Given the description of an element on the screen output the (x, y) to click on. 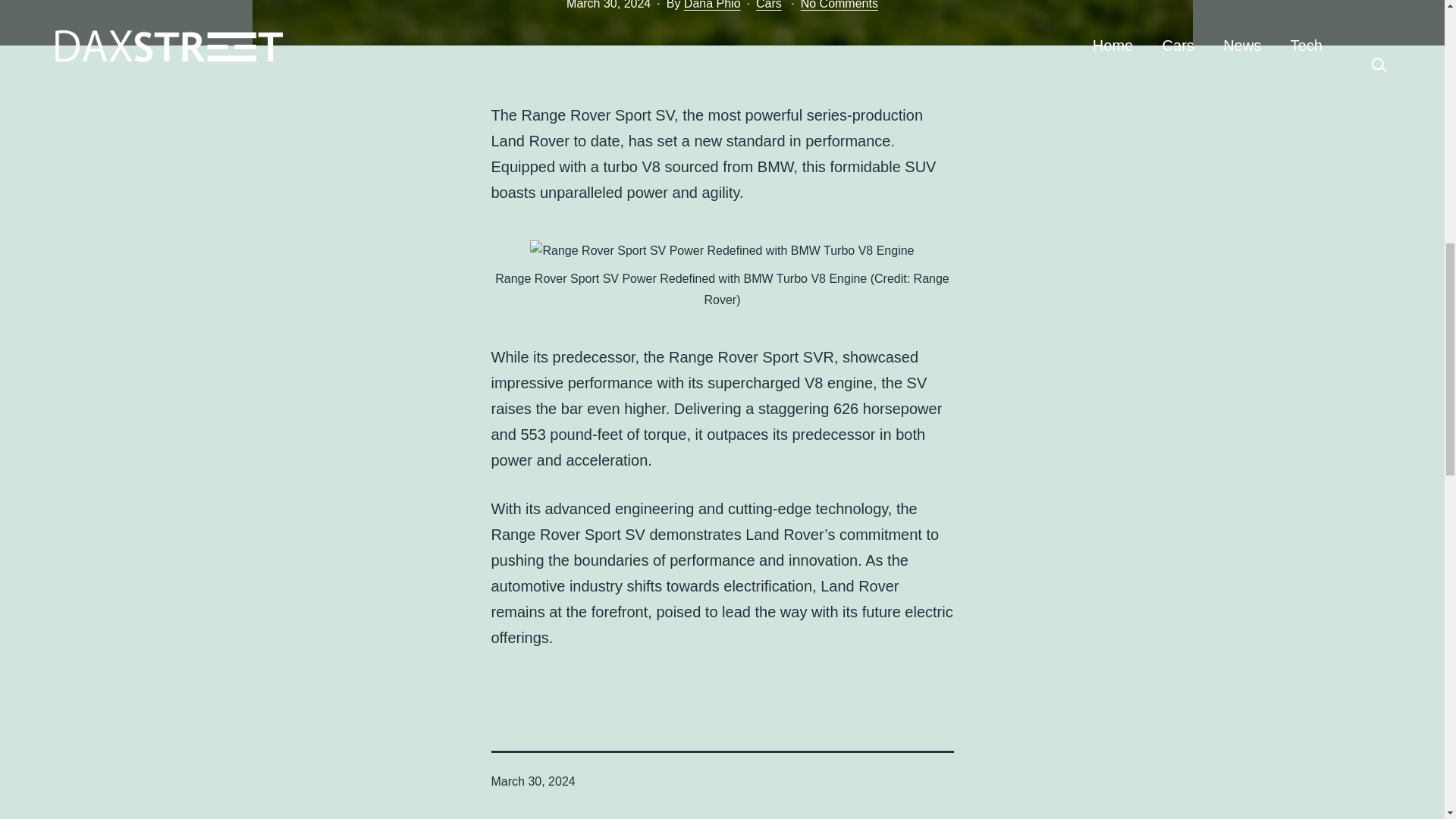
Dana Phio (712, 4)
Cars (768, 4)
